Given the description of an element on the screen output the (x, y) to click on. 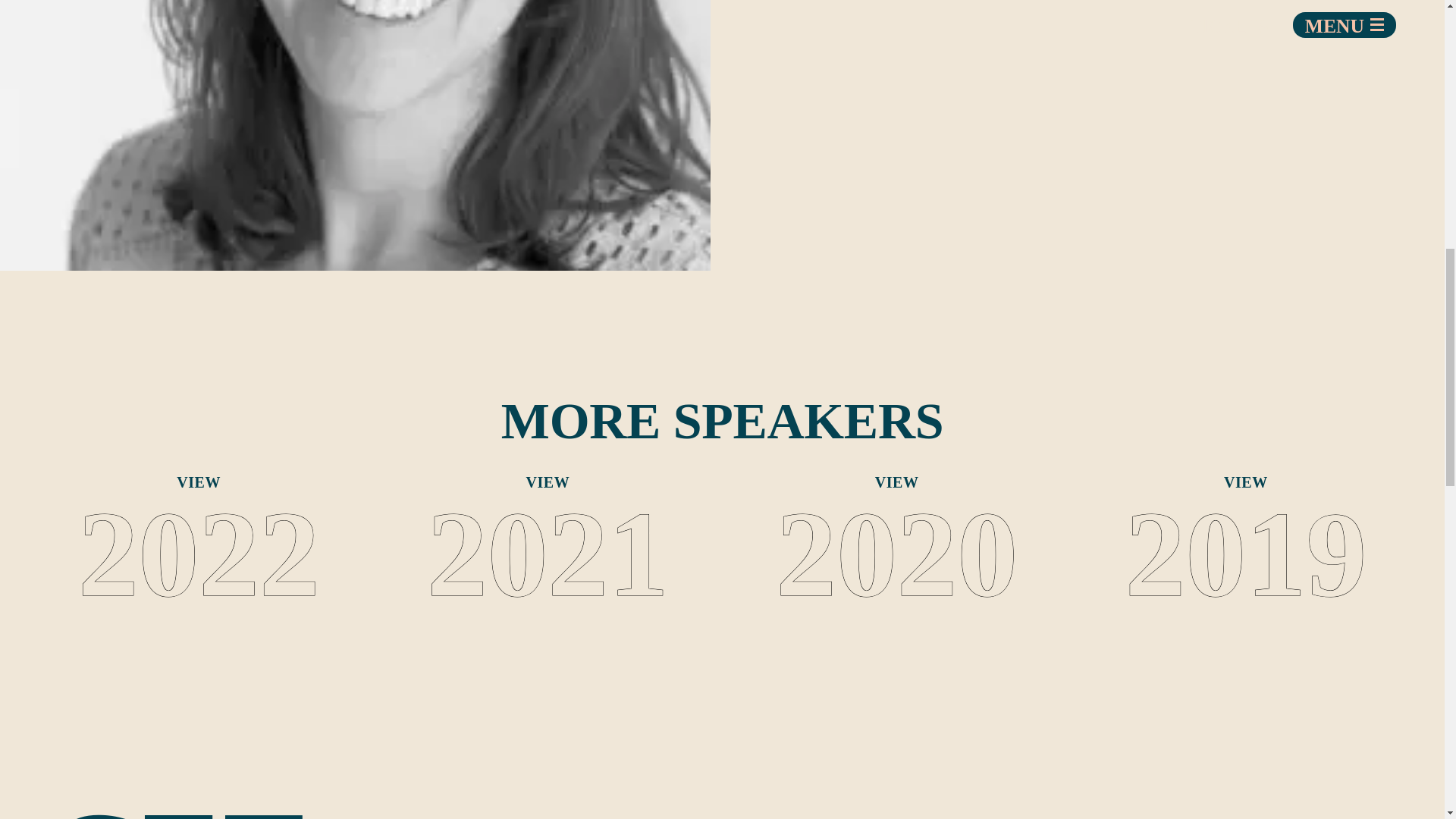
2019 (1246, 553)
2021 (547, 553)
2020 (896, 553)
2022 (199, 553)
